Given the description of an element on the screen output the (x, y) to click on. 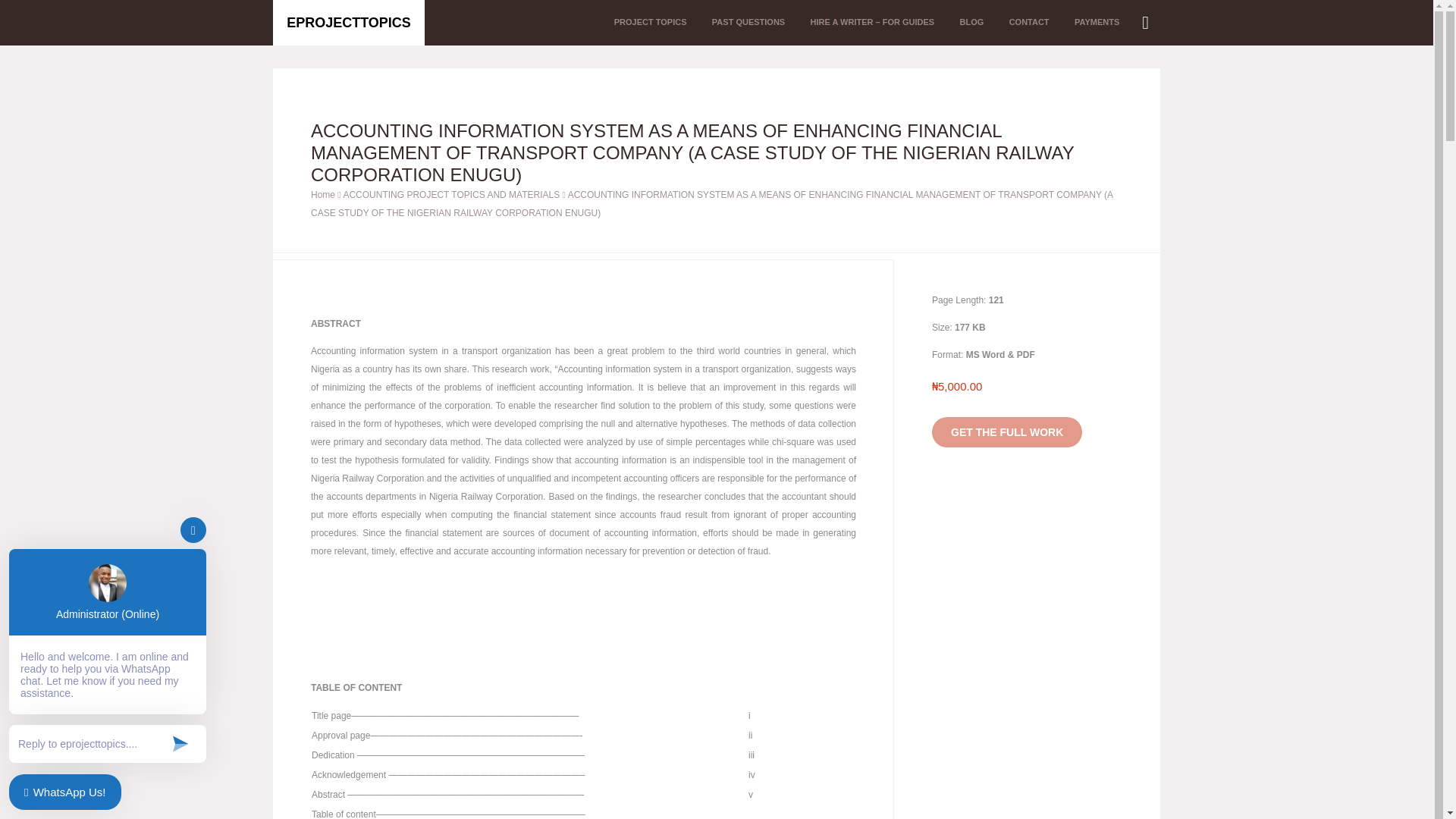
CONTACT (1029, 22)
PAST QUESTIONS (748, 22)
PROJECT TOPICS (650, 22)
ACCOUNTING PROJECT TOPICS AND MATERIALS (450, 194)
Home (322, 194)
EPROJECTTOPICS (349, 23)
PAYMENTS (1096, 22)
GET THE FULL WORK (1006, 431)
BLOG (970, 22)
